Given the description of an element on the screen output the (x, y) to click on. 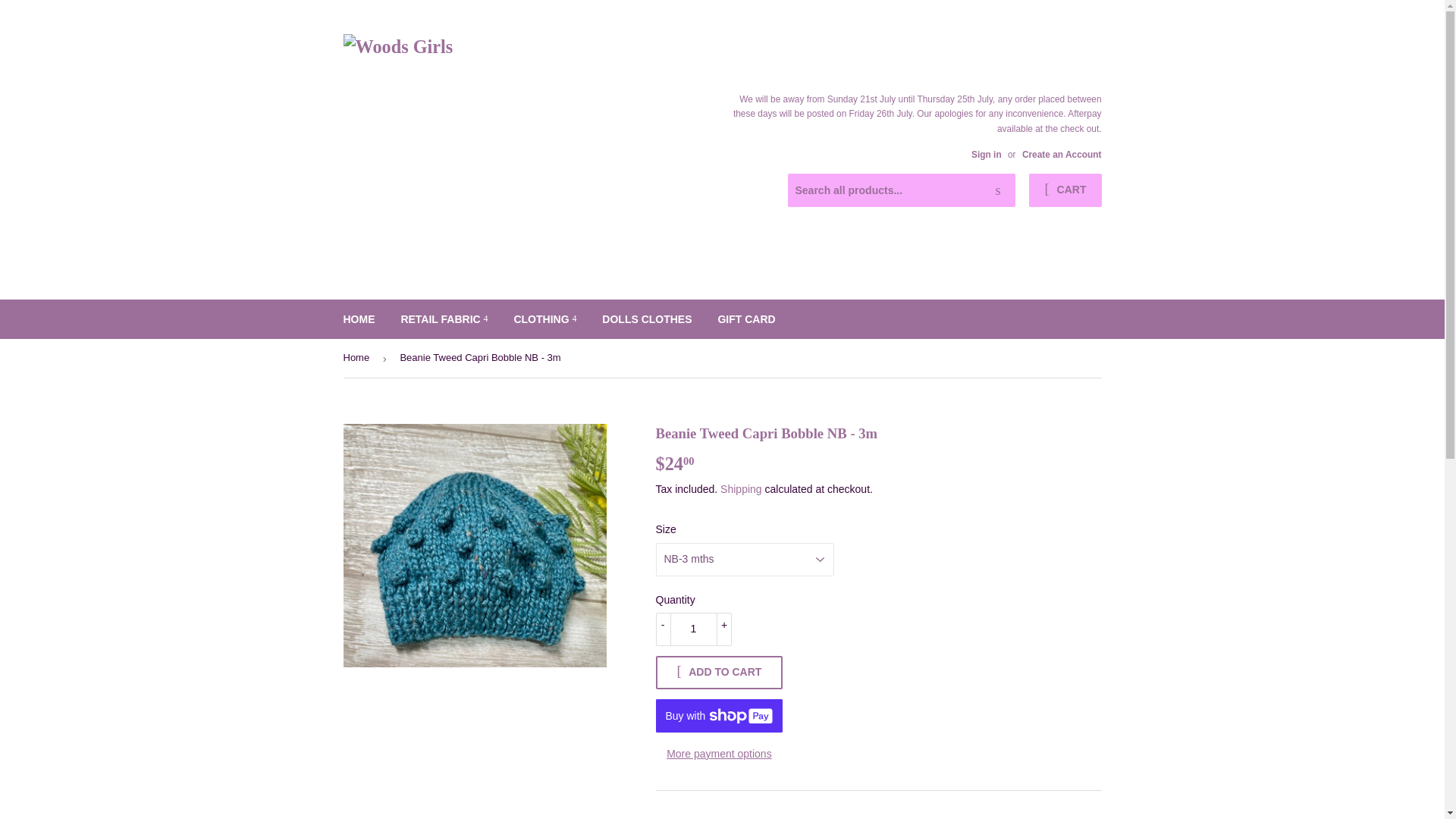
Sign in (986, 154)
Search (997, 191)
Create an Account (1062, 154)
CART (1064, 190)
1 (692, 629)
